Given the description of an element on the screen output the (x, y) to click on. 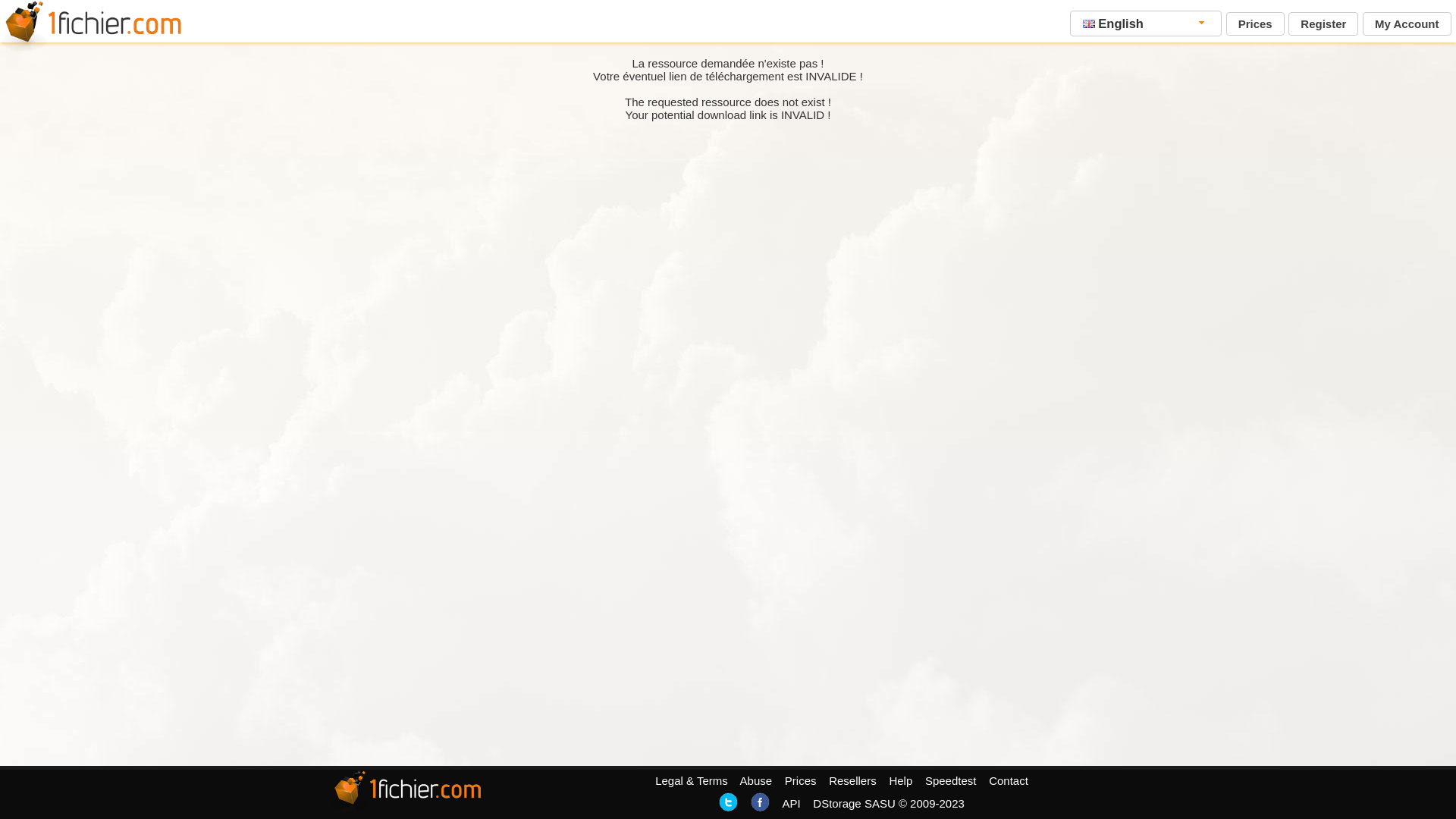
Contact Element type: text (1008, 780)
Prices Element type: text (800, 780)
Abuse Element type: text (756, 780)
Speedtest Element type: text (950, 780)
Resellers Element type: text (852, 780)
Legal & Terms Element type: text (691, 780)
Help Element type: text (900, 780)
My Account Element type: text (1406, 23)
API Element type: text (790, 803)
Prices Element type: text (1255, 23)
Register Element type: text (1323, 23)
